Given the description of an element on the screen output the (x, y) to click on. 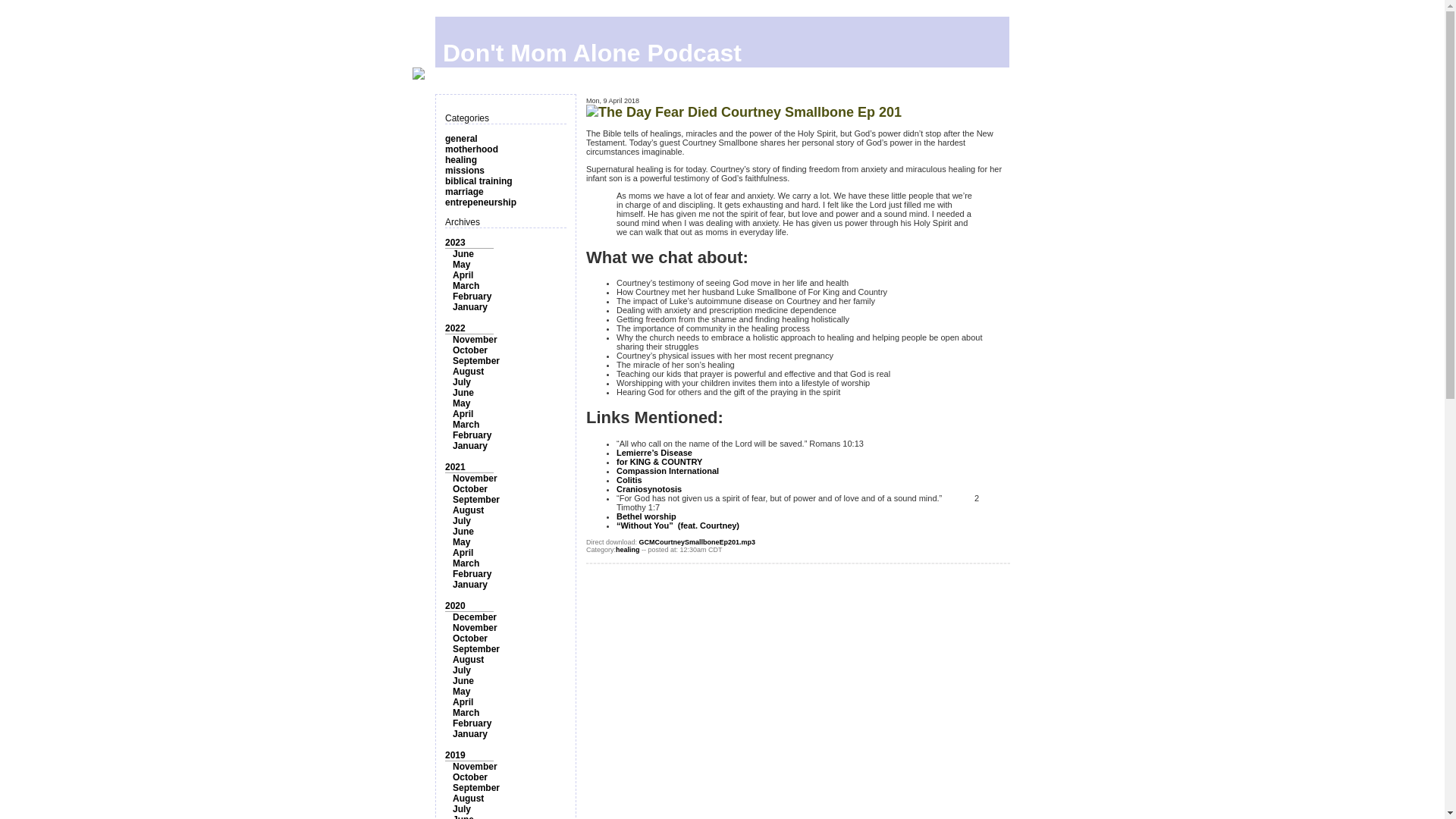
August (467, 510)
March (465, 424)
July (461, 381)
May (461, 264)
2021 (455, 466)
June (463, 531)
June (463, 392)
missions (464, 170)
November (474, 478)
April (462, 552)
August (467, 371)
October (469, 489)
healing (461, 159)
February (472, 296)
marriage (464, 191)
